Given the description of an element on the screen output the (x, y) to click on. 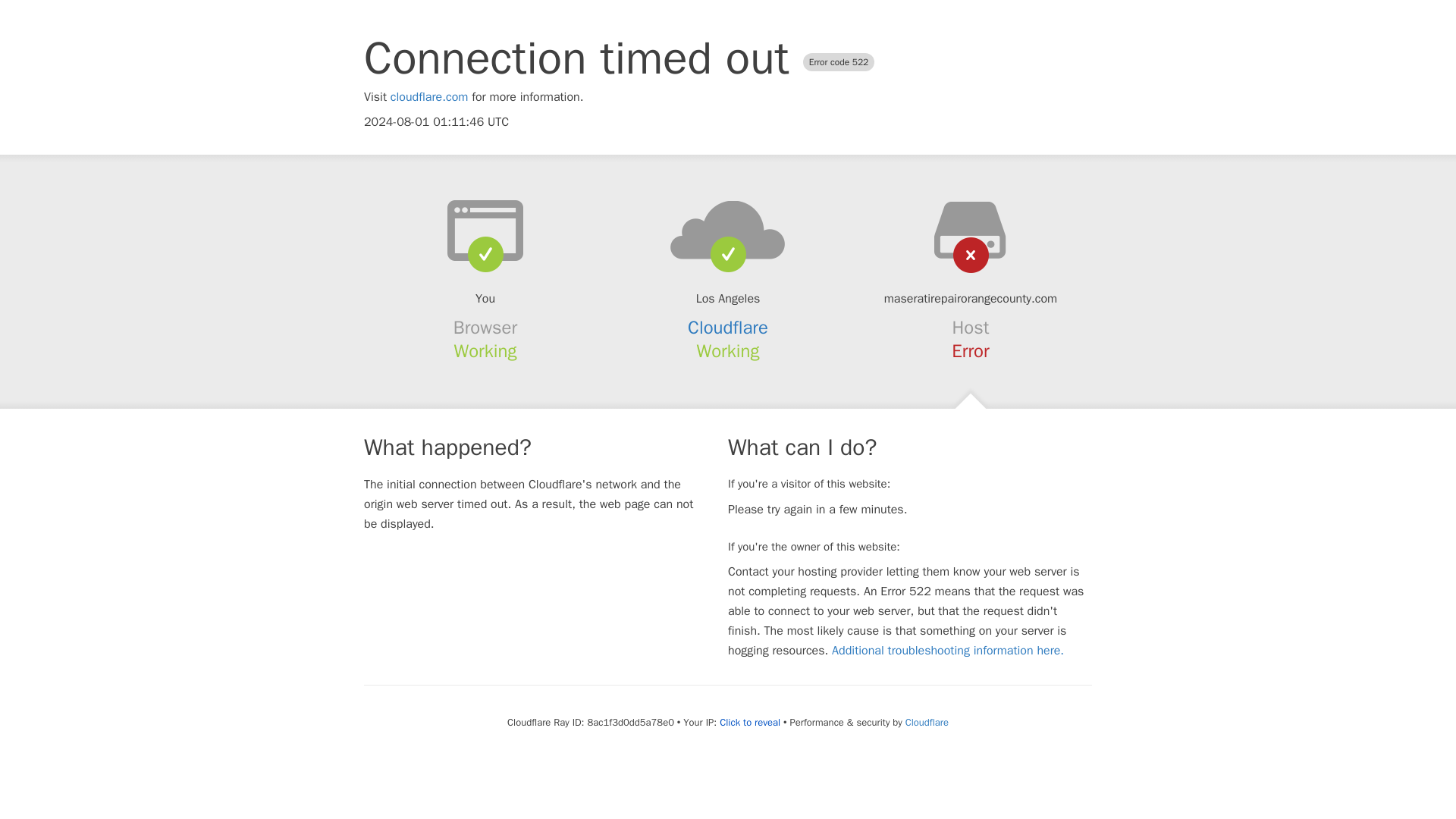
Cloudflare (927, 721)
cloudflare.com (429, 96)
Cloudflare (727, 327)
Additional troubleshooting information here. (947, 650)
Click to reveal (749, 722)
